Given the description of an element on the screen output the (x, y) to click on. 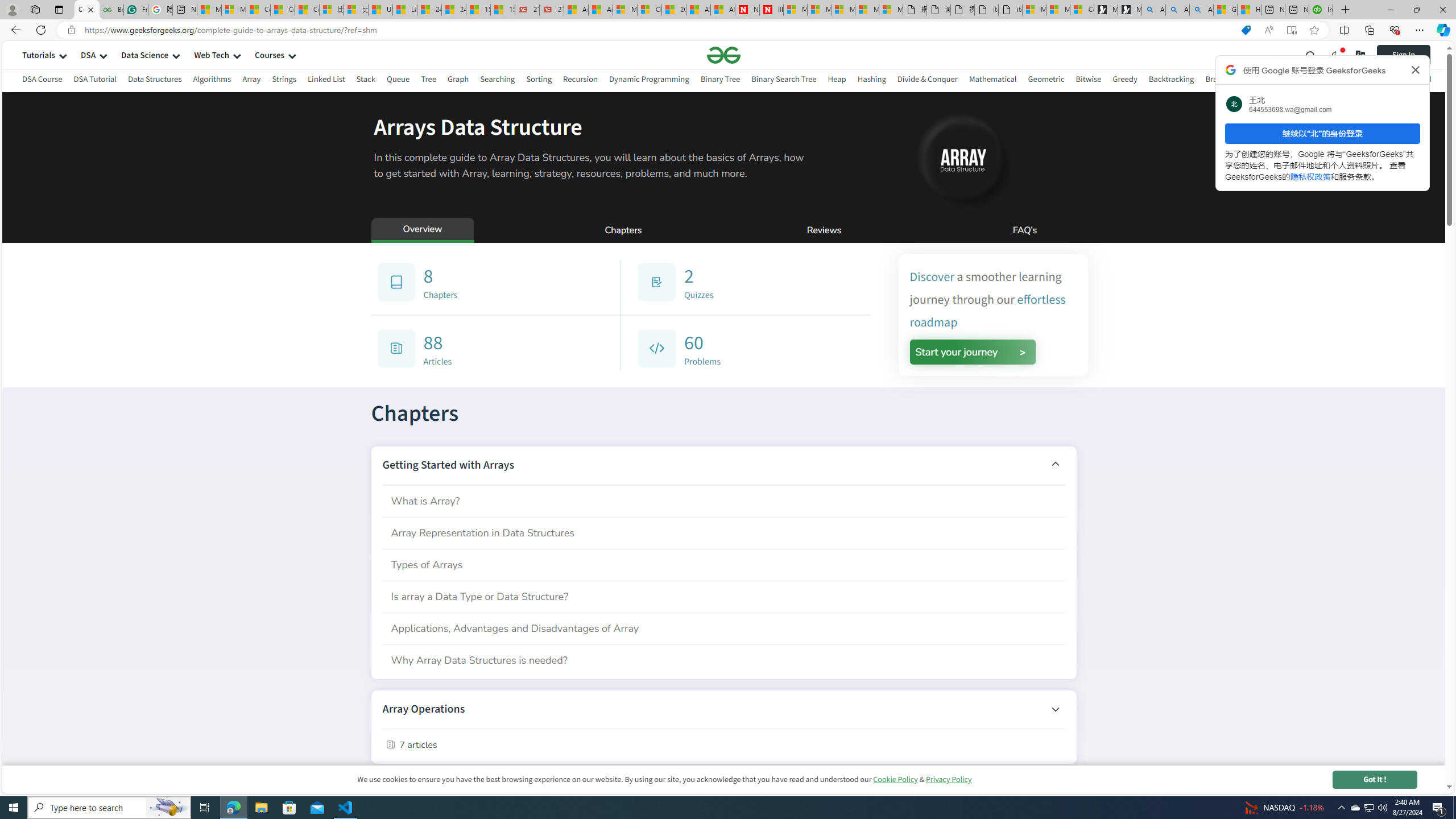
15 Ways Modern Life Contradicts the Teachings of Jesus (502, 9)
DSA Tutorial (94, 80)
Geometric (1046, 79)
Start your journey > (972, 351)
Strings (283, 80)
Cloud Computing Services | Microsoft Azure (648, 9)
Pattern Searching (1344, 79)
Best SSL Certificates Provider in India - GeeksforGeeks (111, 9)
Binary Tree (719, 79)
Backtracking (1170, 80)
Searching (497, 79)
